Given the description of an element on the screen output the (x, y) to click on. 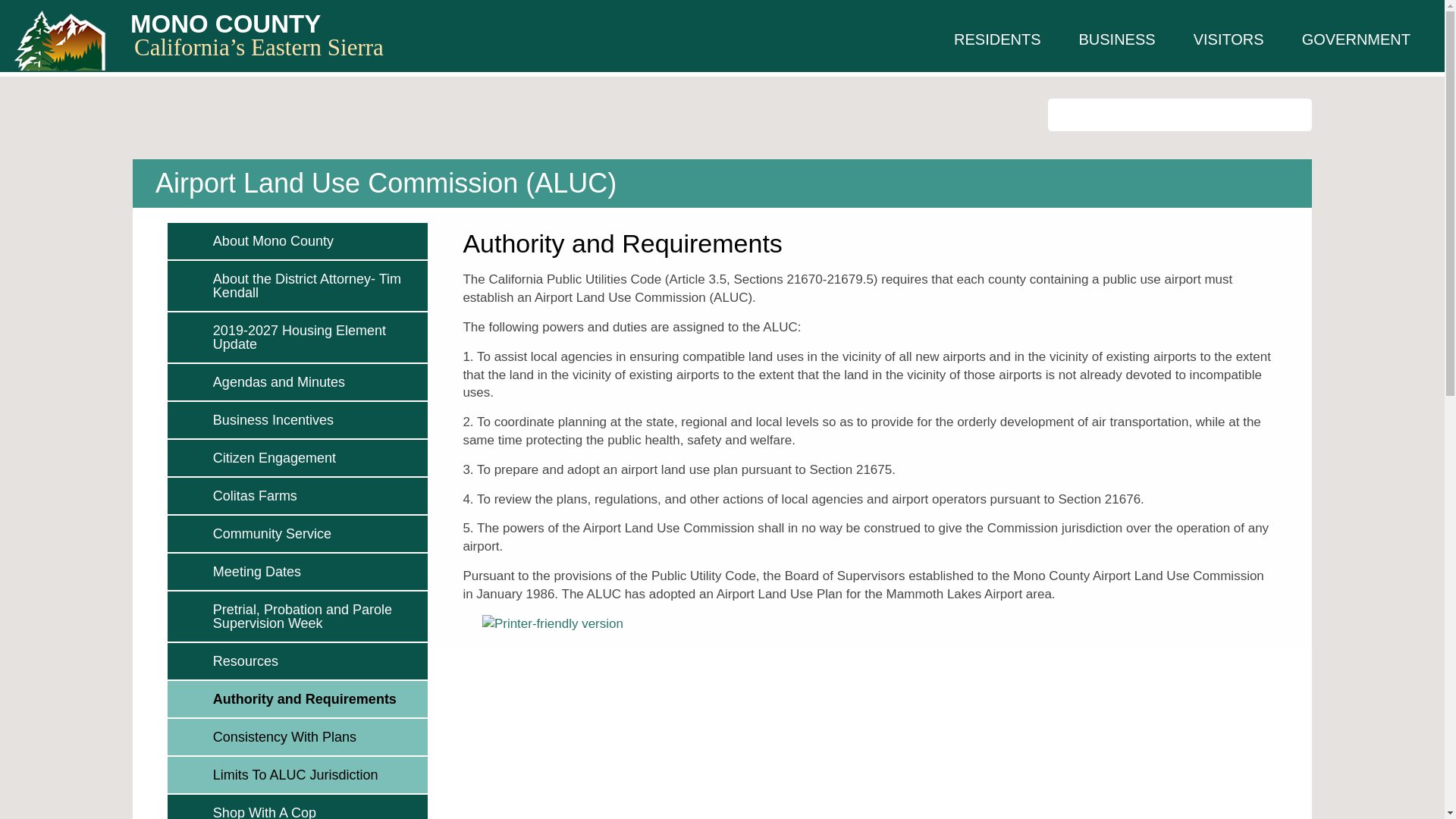
Printer-friendly version (552, 624)
Enter the terms you wish to search for. (1179, 114)
RESIDENTS (997, 39)
Search (1294, 114)
Display a printer-friendly version of this page. (552, 622)
July 17-23, 2016 (316, 616)
Community service information, packet, sites, and logs. (316, 533)
